Given the description of an element on the screen output the (x, y) to click on. 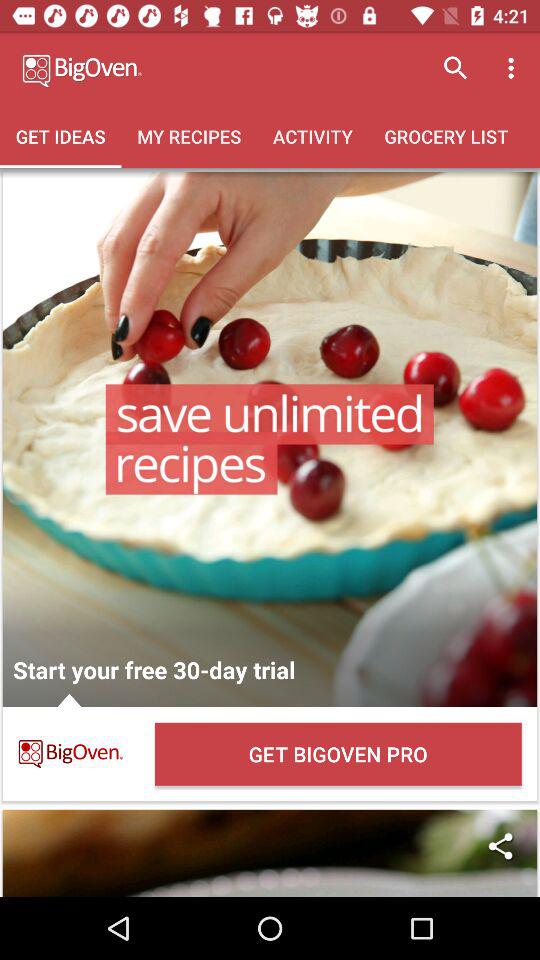
share with others (269, 853)
